Given the description of an element on the screen output the (x, y) to click on. 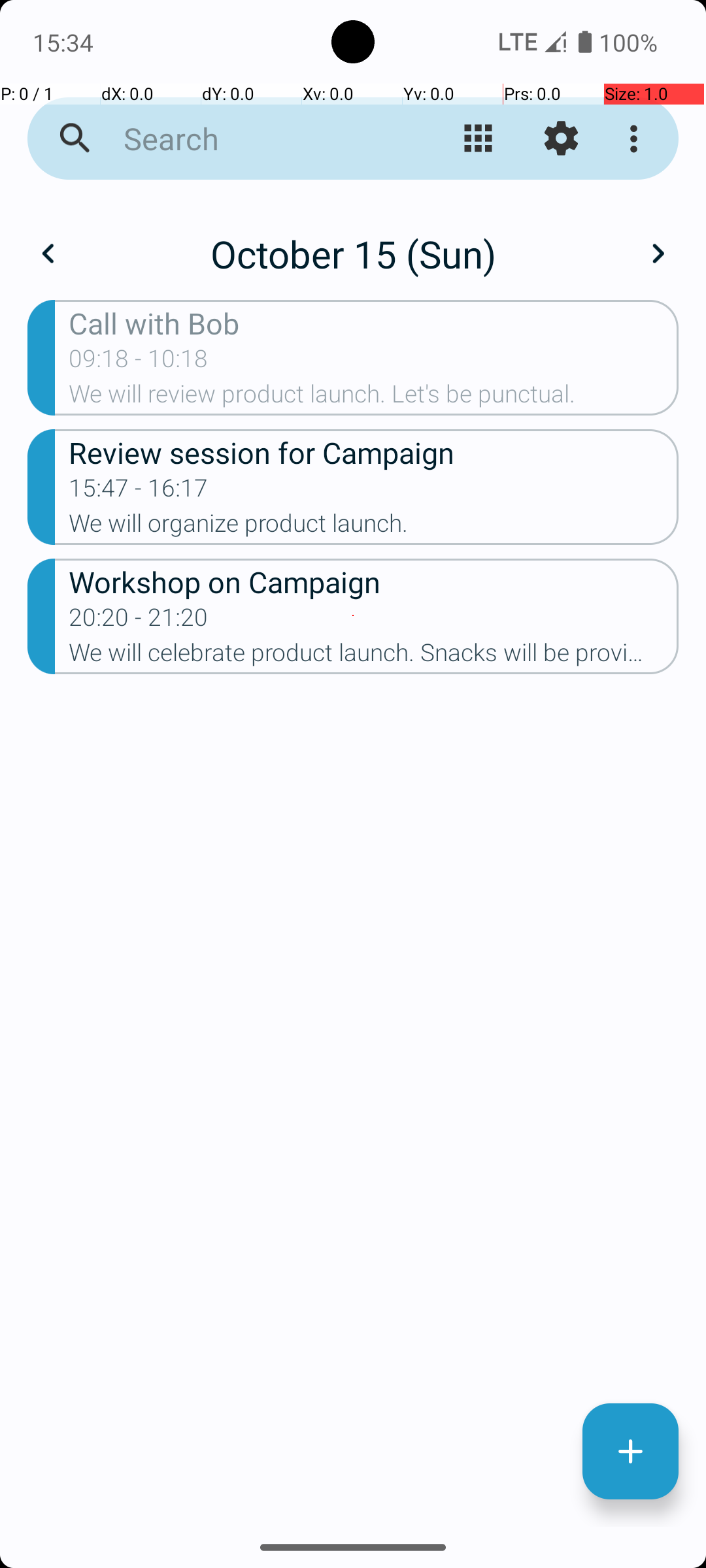
Call with Bob Element type: android.widget.TextView (373, 321)
09:18 - 10:18 Element type: android.widget.TextView (137, 362)
We will review product launch. Let's be punctual. Element type: android.widget.TextView (373, 397)
15:47 - 16:17 Element type: android.widget.TextView (137, 491)
We will organize product launch. Element type: android.widget.TextView (373, 526)
20:20 - 21:20 Element type: android.widget.TextView (137, 620)
We will celebrate product launch. Snacks will be provided. Element type: android.widget.TextView (373, 656)
